Given the description of an element on the screen output the (x, y) to click on. 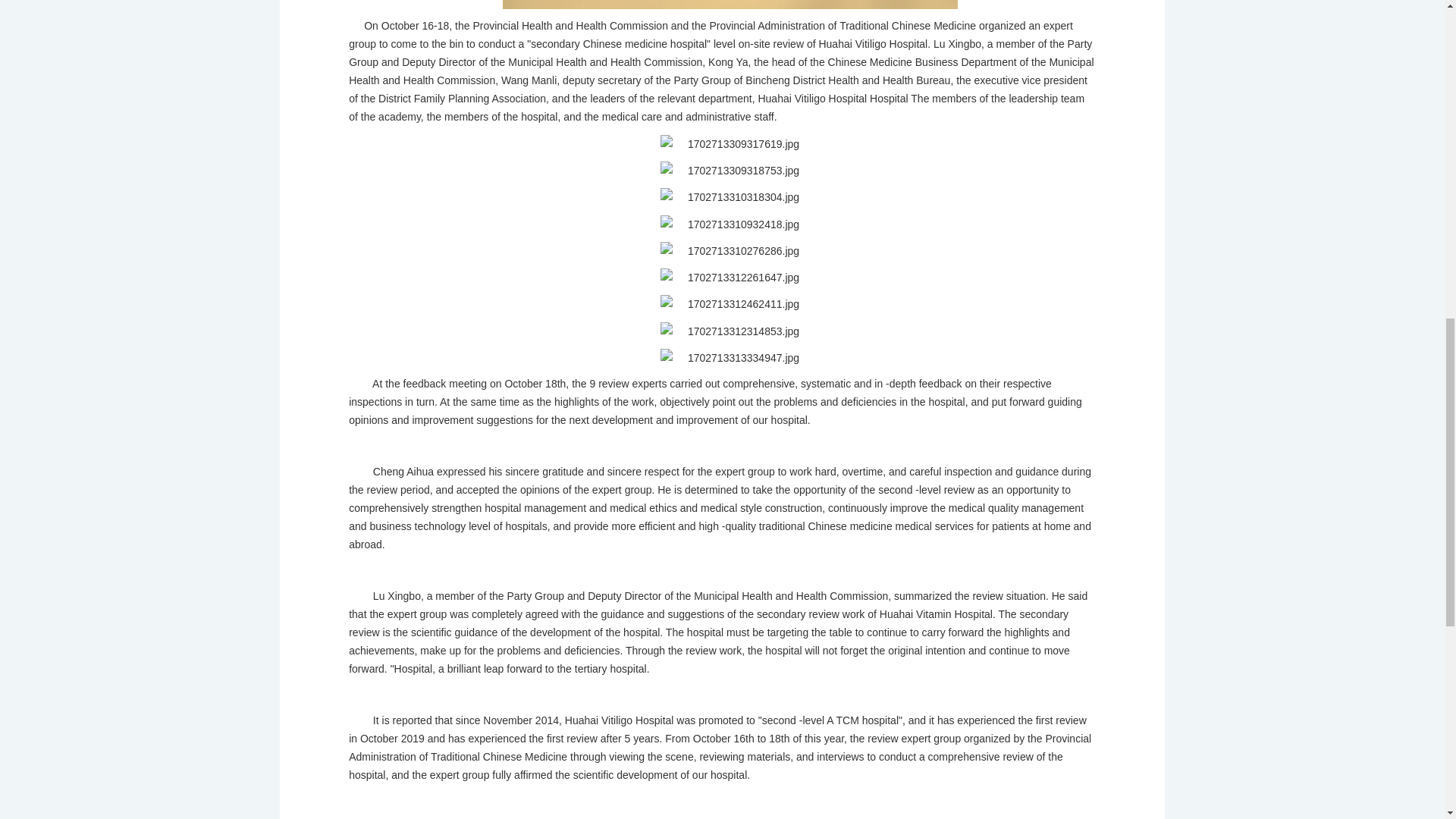
1702713310318304.jpg (730, 197)
1702713309317619.jpg (730, 144)
1702713312314853.jpg (730, 331)
1704166266816333.jpg (729, 4)
1702713312261647.jpg (730, 277)
1702713309318753.jpg (730, 170)
1702713312462411.jpg (730, 303)
1702713310276286.jpg (730, 250)
1702713313334947.jpg (730, 357)
1702713310932418.jpg (730, 224)
